Given the description of an element on the screen output the (x, y) to click on. 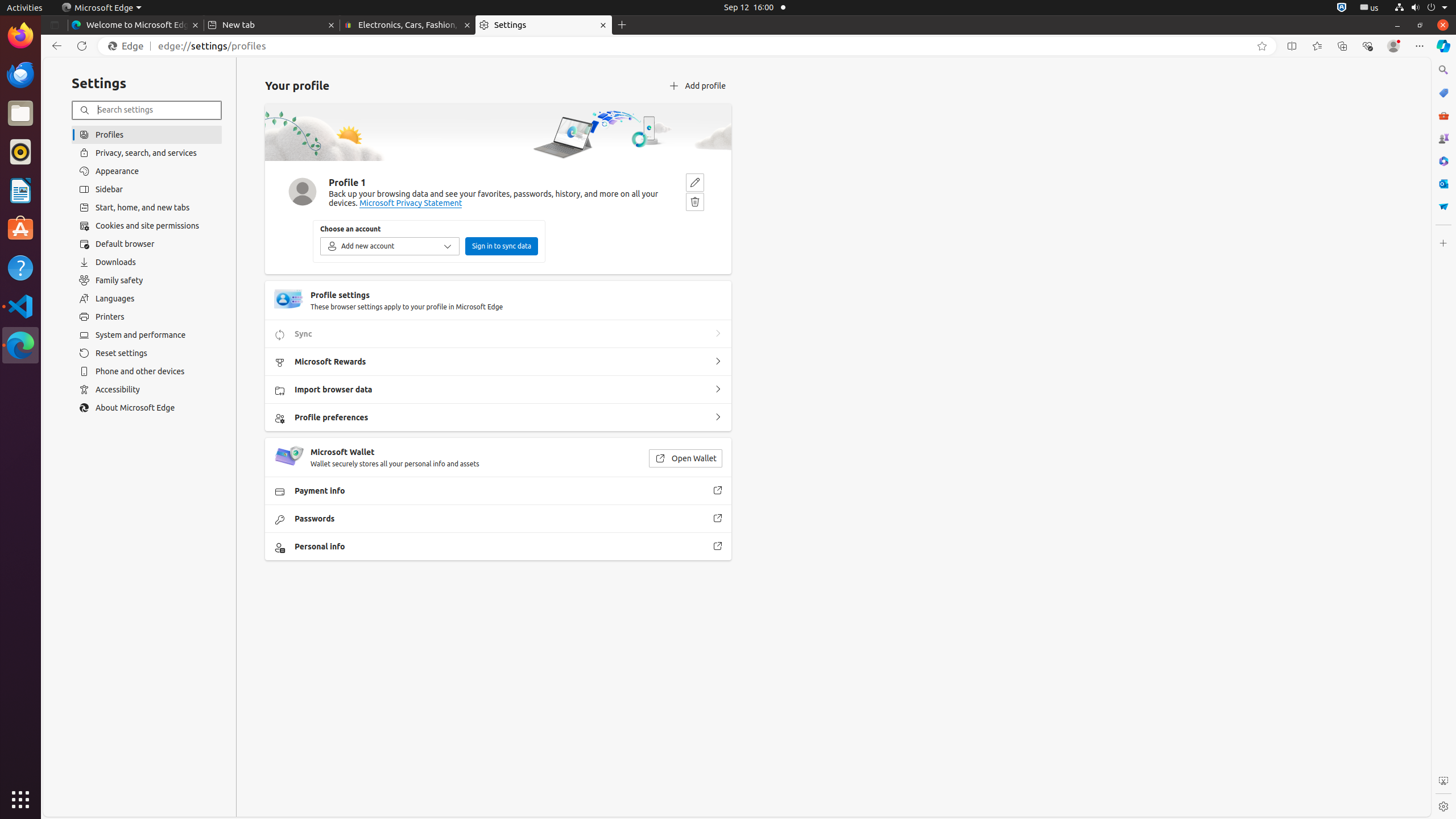
Screenshot Element type: push-button (1443, 780)
Thunderbird Mail Element type: push-button (20, 74)
System and performance Element type: tree-item (146, 334)
Ubuntu Software Element type: push-button (20, 229)
Firefox Web Browser Element type: push-button (20, 35)
